Given the description of an element on the screen output the (x, y) to click on. 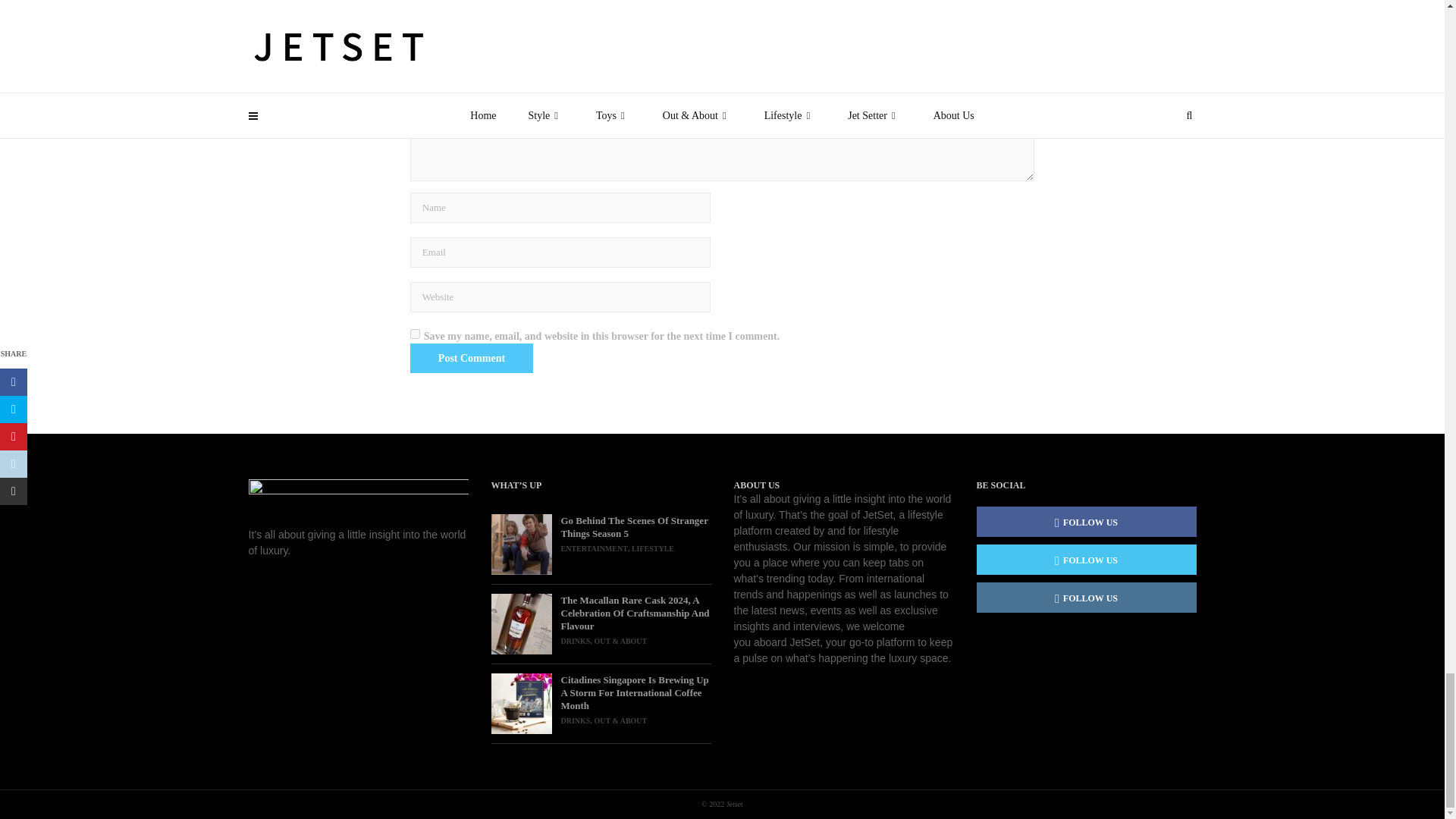
yes (415, 334)
Post Comment (471, 358)
